Given the description of an element on the screen output the (x, y) to click on. 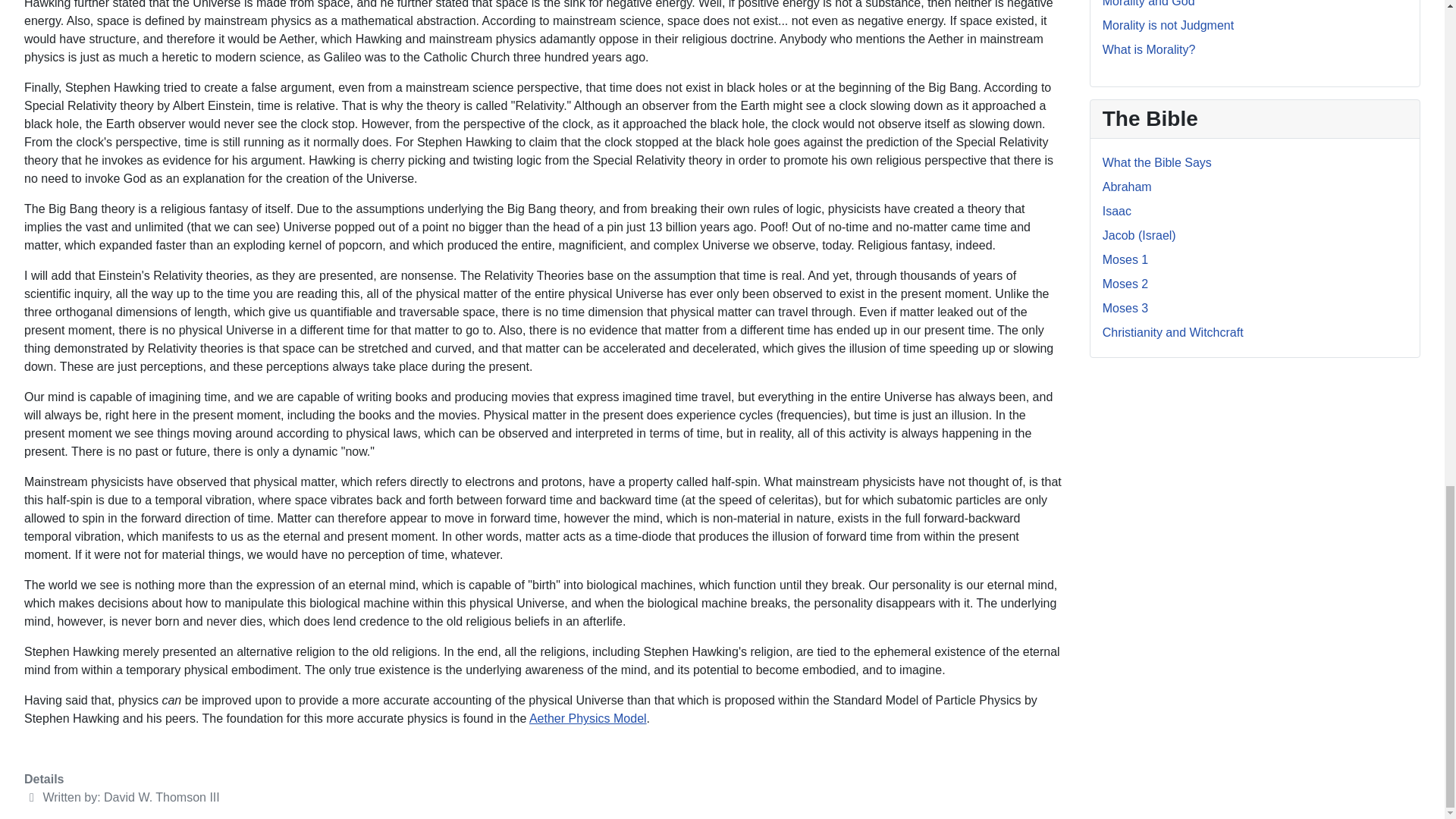
What the Bible Says (1156, 162)
Abraham (1126, 186)
Moses 3 (1125, 308)
Moses 2 (1125, 283)
Morality is not Judgment (1167, 24)
What is Morality? (1148, 49)
Morality and God (1148, 3)
Christianity and Witchcraft (1172, 332)
Aether Physics Model (587, 717)
Isaac (1116, 210)
